Given the description of an element on the screen output the (x, y) to click on. 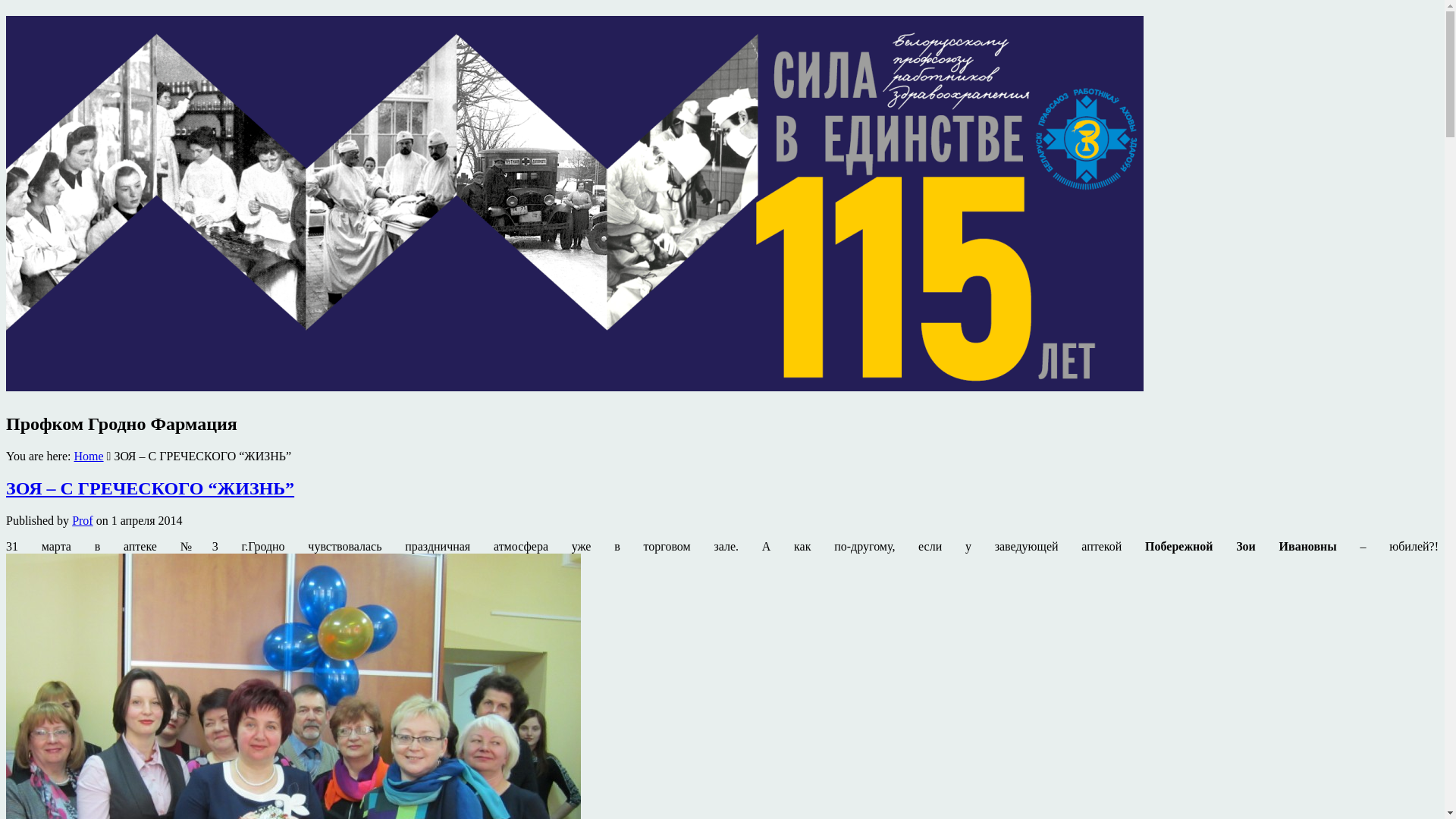
Prof Element type: text (82, 520)
Home Element type: text (88, 455)
